Given the description of an element on the screen output the (x, y) to click on. 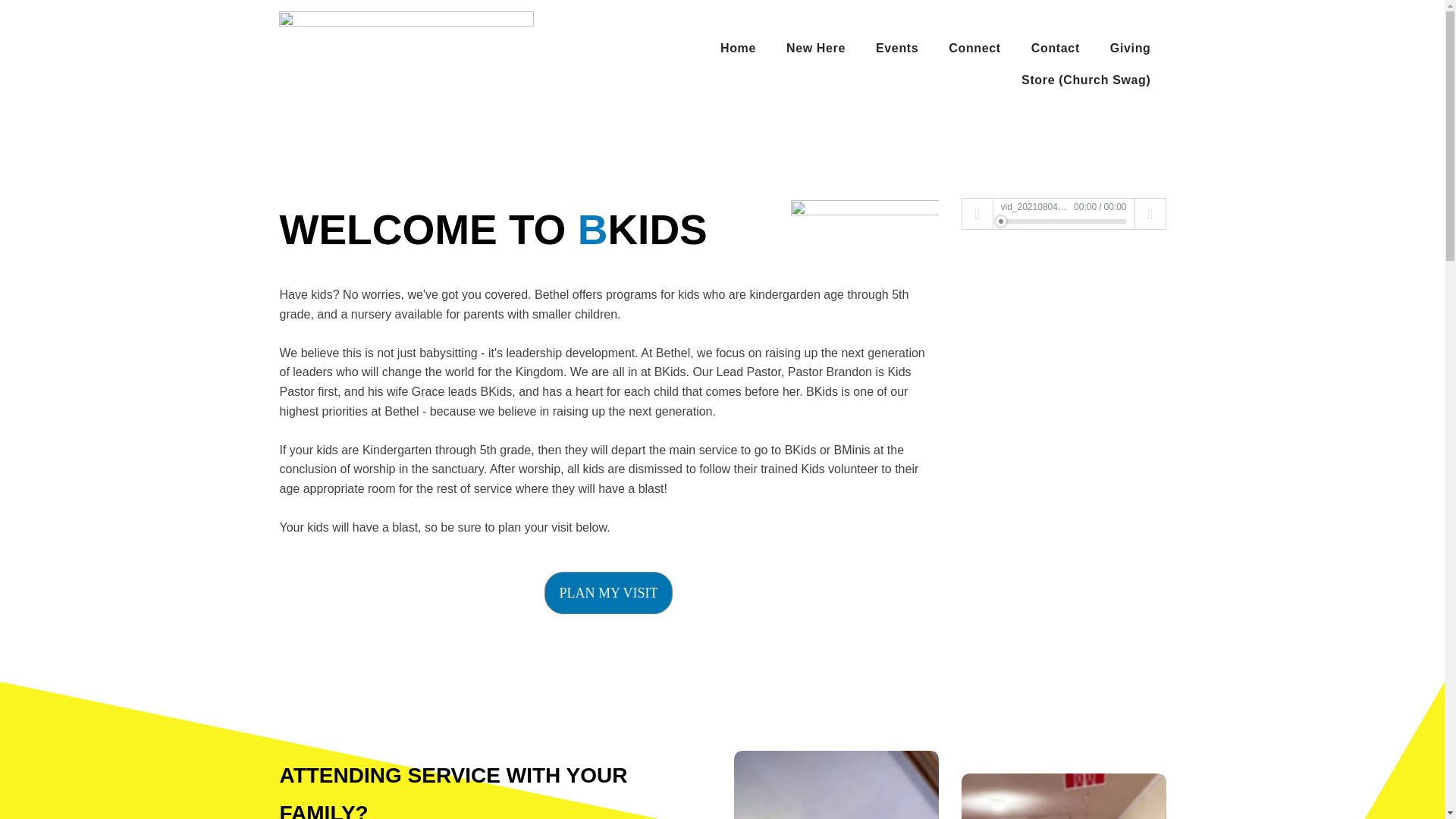
Contact (1055, 49)
New Here (815, 49)
Giving (1130, 49)
Events (896, 49)
PLAN MY VISIT (607, 592)
Home (737, 49)
Connect (973, 49)
